Given the description of an element on the screen output the (x, y) to click on. 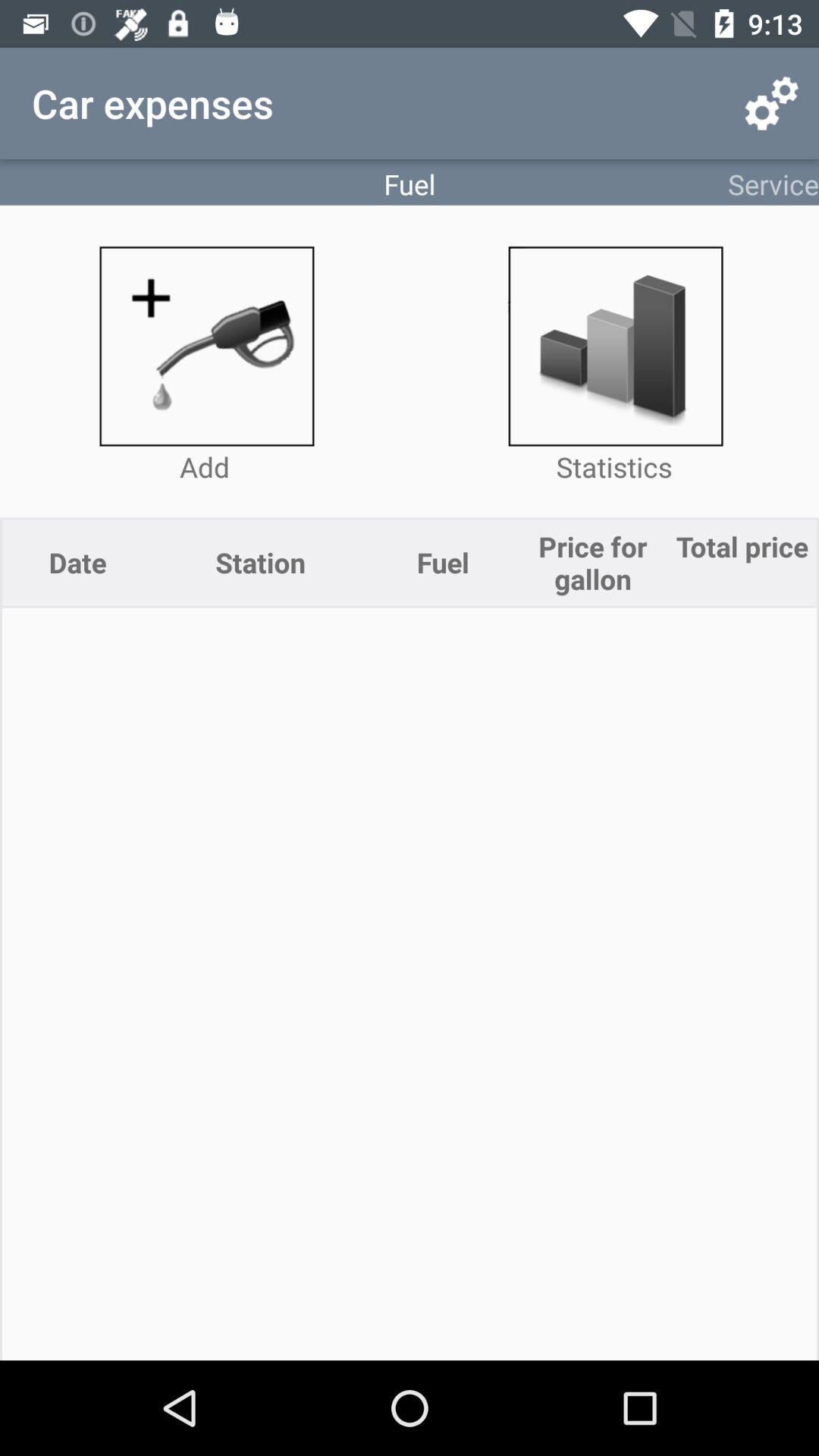
launch the item next to the fuel icon (771, 103)
